Given the description of an element on the screen output the (x, y) to click on. 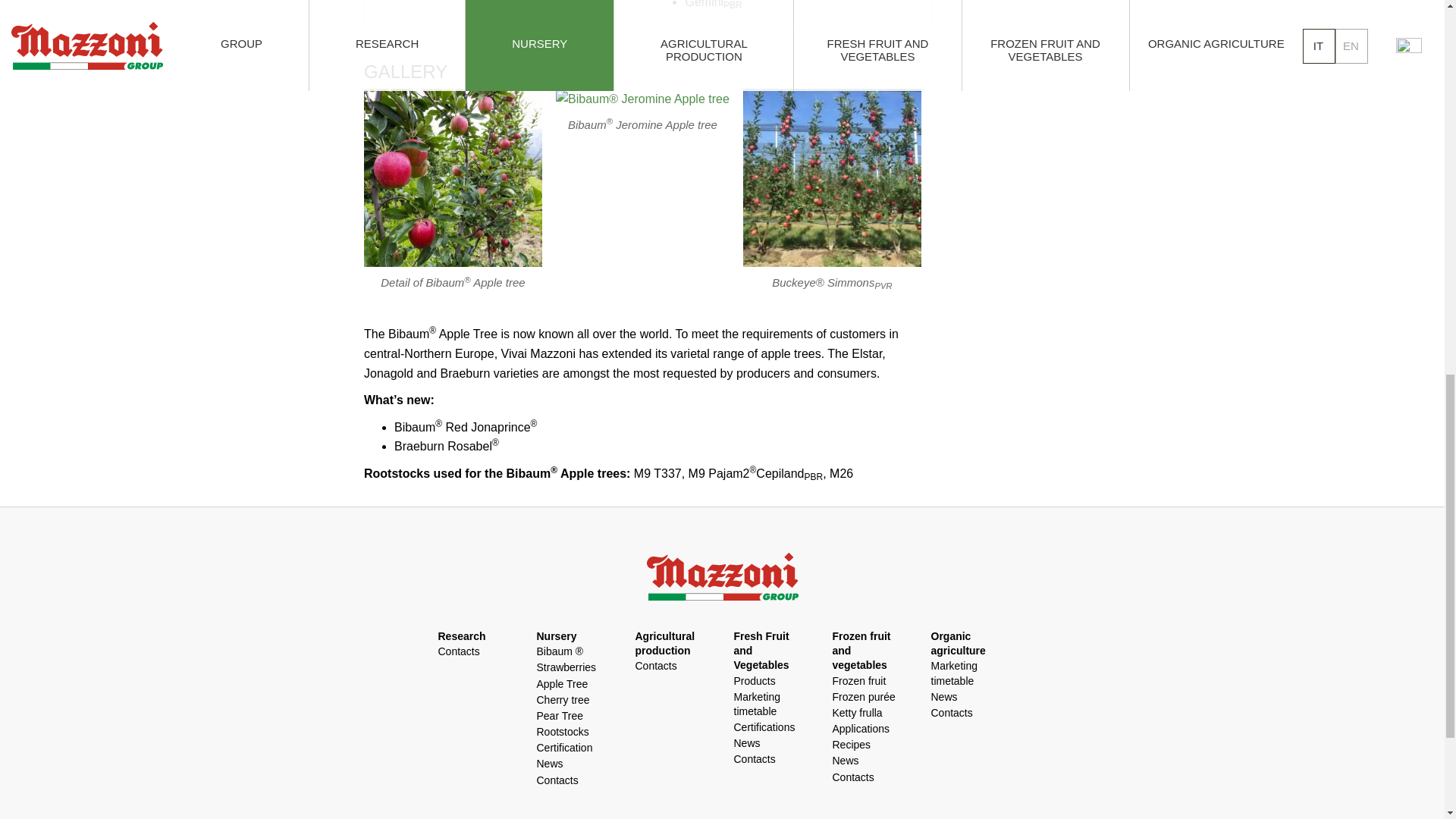
Mazzoni (721, 576)
Research (462, 635)
